Given the description of an element on the screen output the (x, y) to click on. 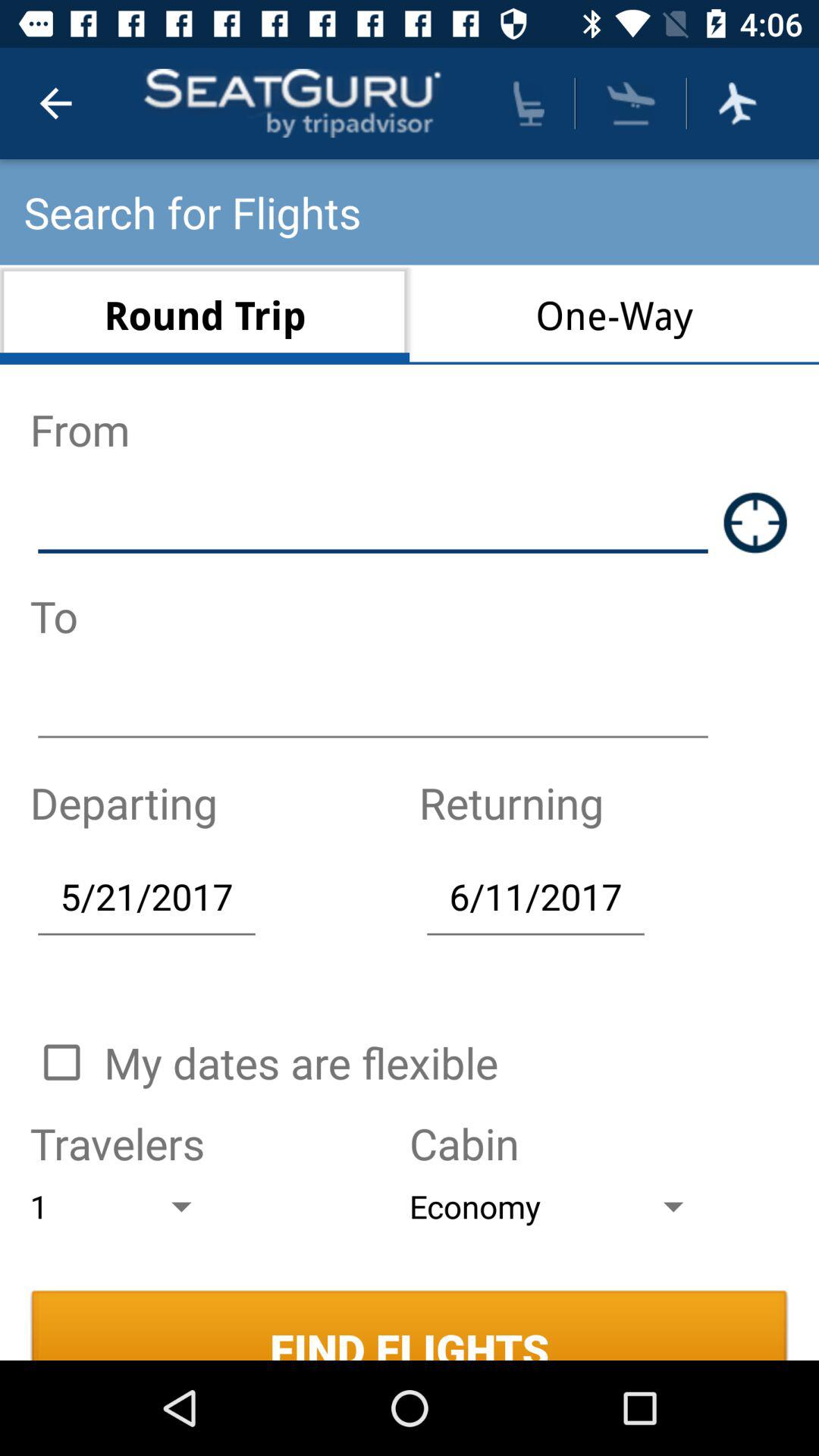
use current location (755, 522)
